Given the description of an element on the screen output the (x, y) to click on. 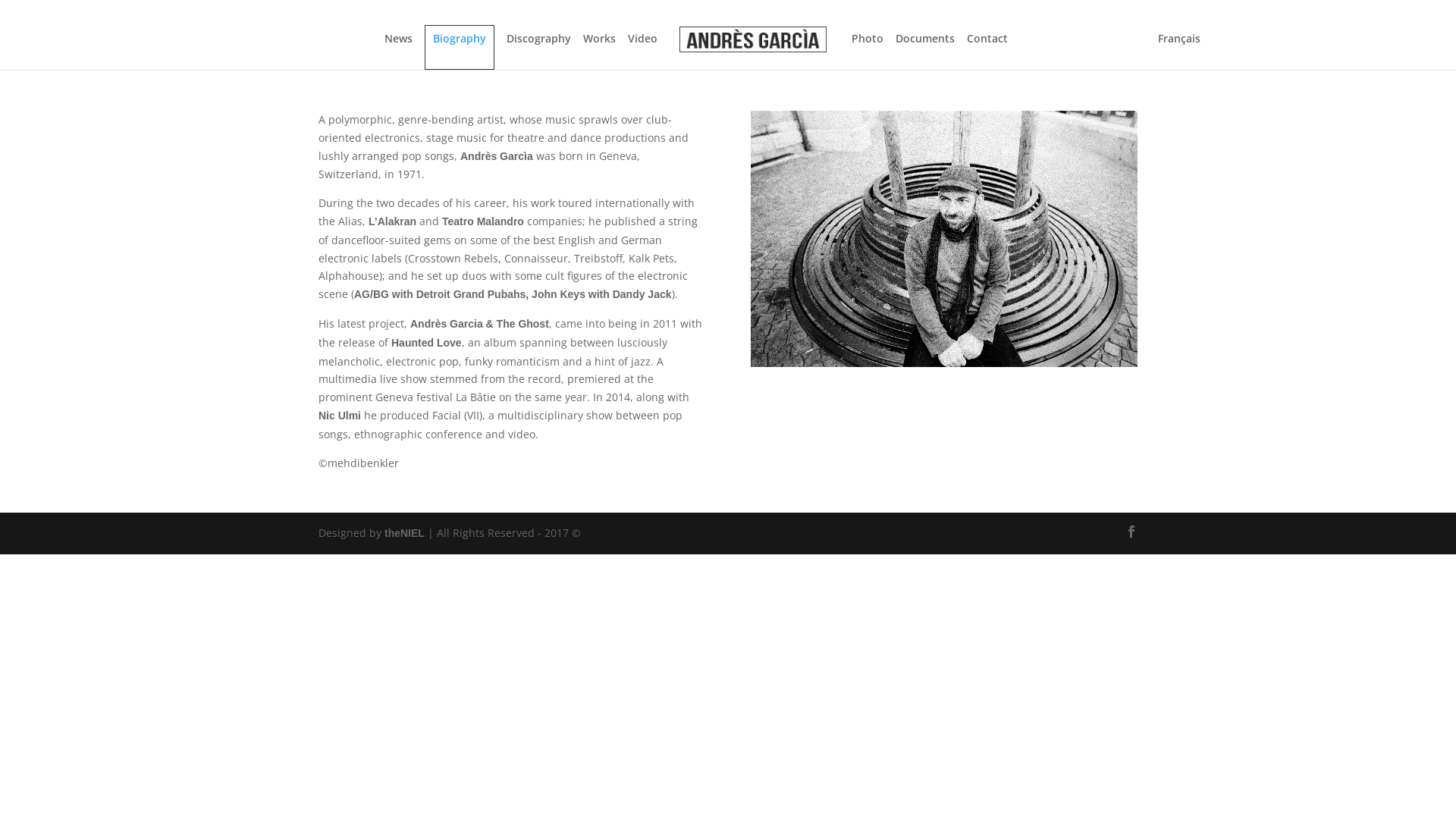
Contact Element type: text (986, 51)
News Element type: text (398, 51)
Video Element type: text (642, 51)
Photo Element type: text (867, 51)
theNIEL Element type: text (404, 533)
Biography Element type: text (459, 47)
Documents Element type: text (924, 51)
Works Element type: text (599, 51)
Discography Element type: text (538, 51)
